Given the description of an element on the screen output the (x, y) to click on. 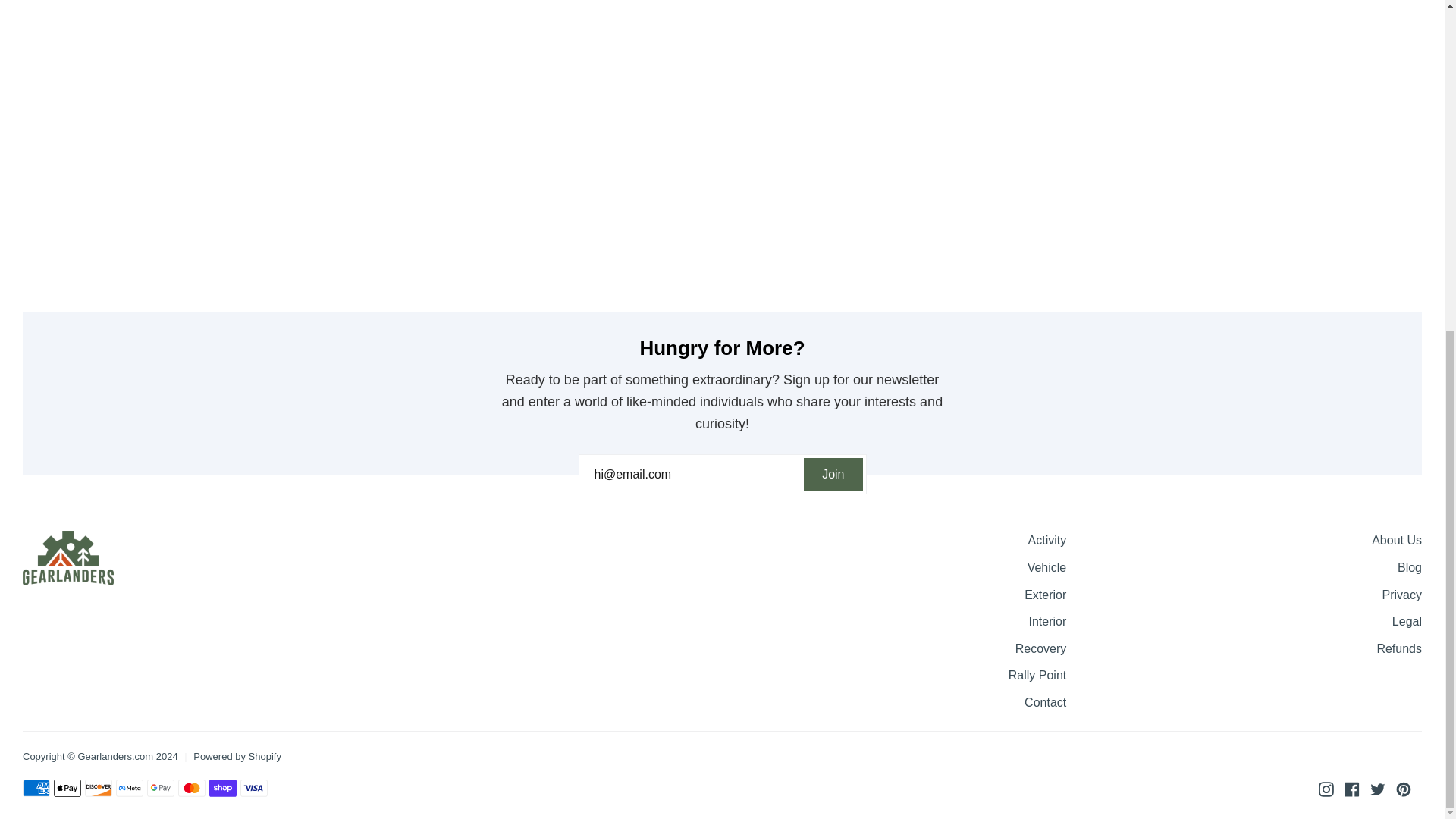
Gearlanders.com on Facebook (1351, 789)
Gearlanders.com on Twitter (1378, 789)
Gearlanders.com on Instagram (1326, 789)
Gearlanders.com on Pinterest (1403, 789)
